Given the description of an element on the screen output the (x, y) to click on. 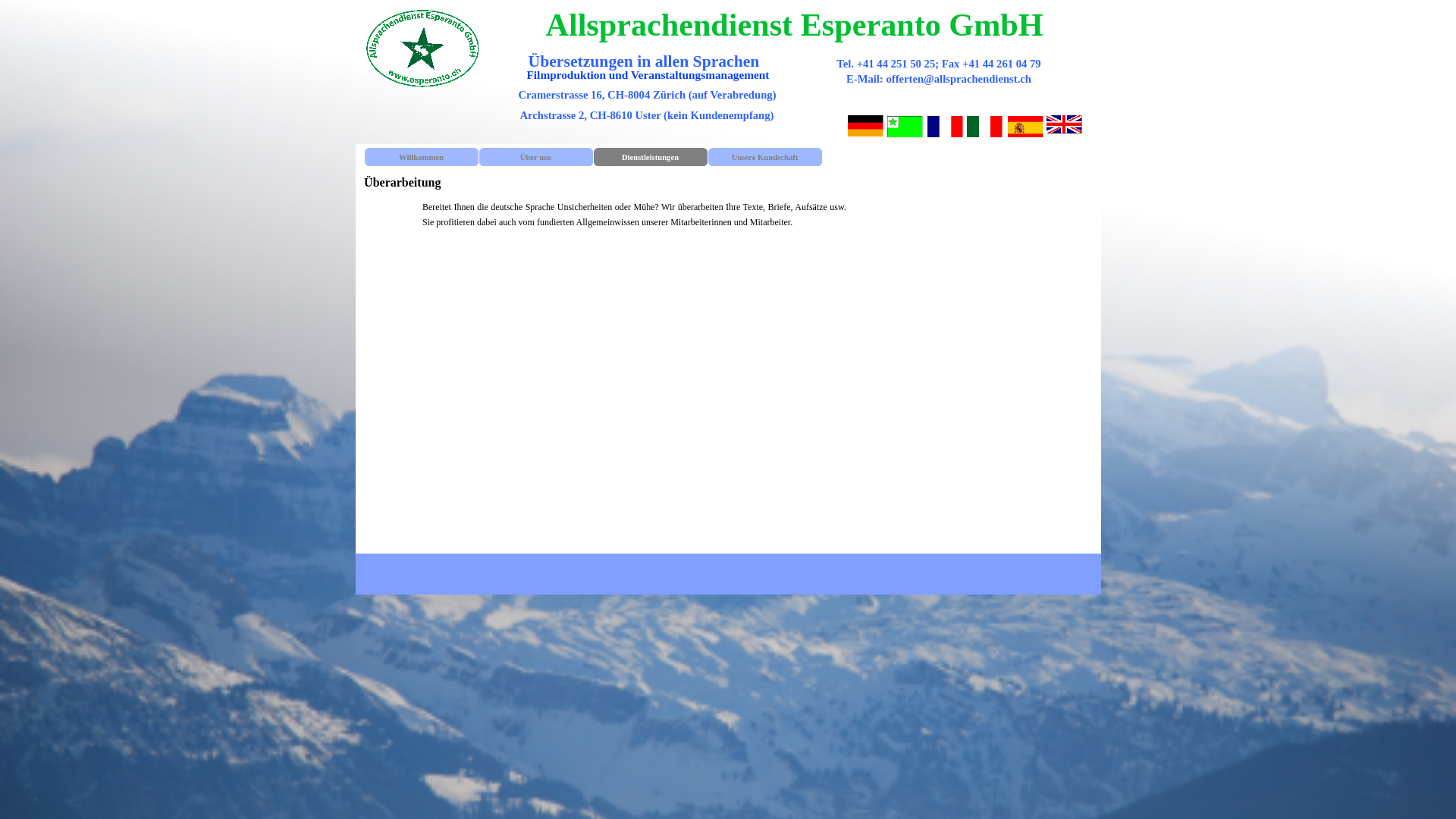
Unsere Kundschaft Element type: text (764, 156)
Willkommen Element type: text (420, 156)
